Given the description of an element on the screen output the (x, y) to click on. 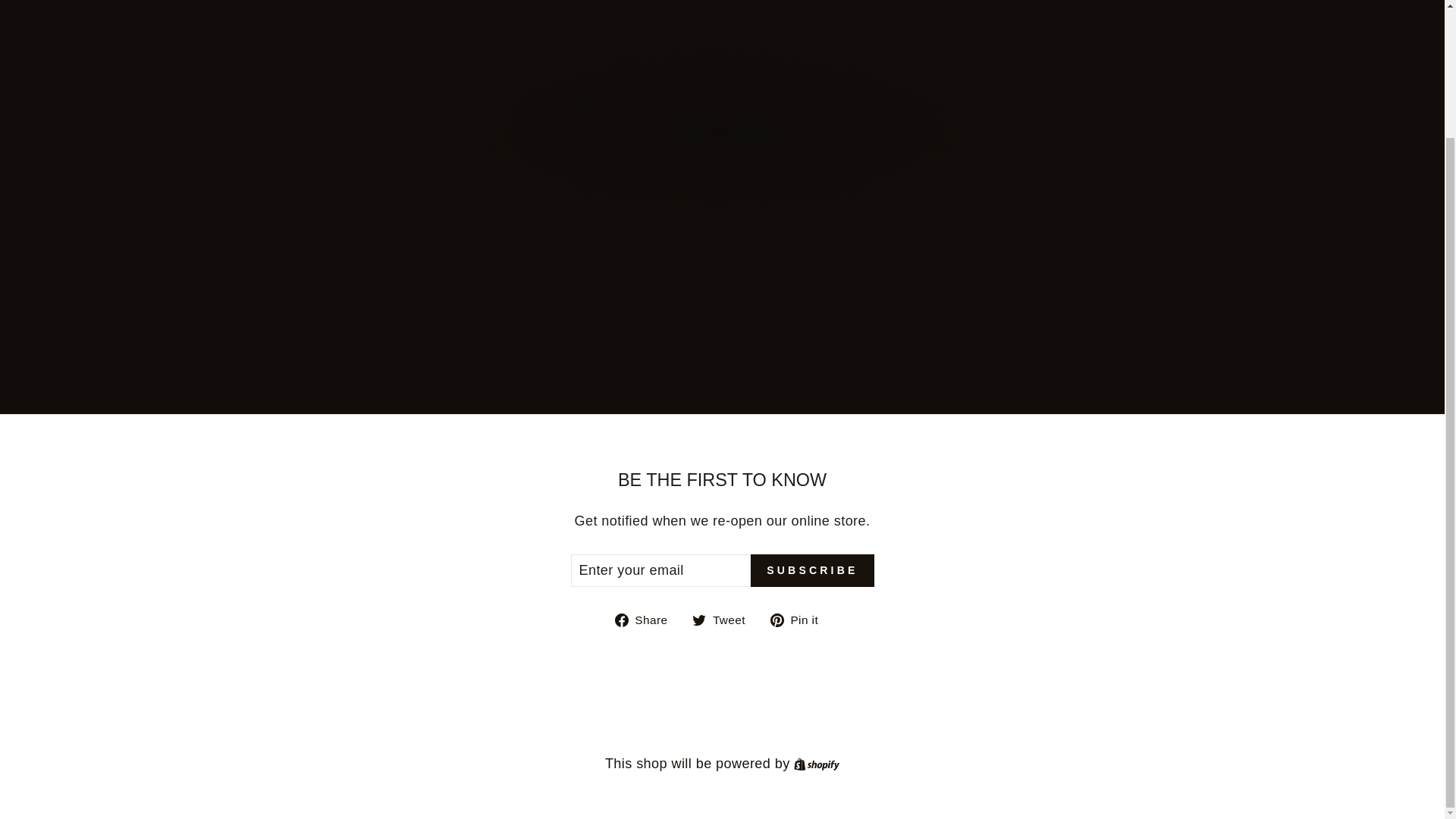
SUBSCRIBE (812, 571)
Pin on Pinterest (799, 618)
Shopify (646, 618)
Tweet on Twitter (799, 618)
Share on Facebook (725, 618)
Create your own online store with Shopify (816, 763)
